Given the description of an element on the screen output the (x, y) to click on. 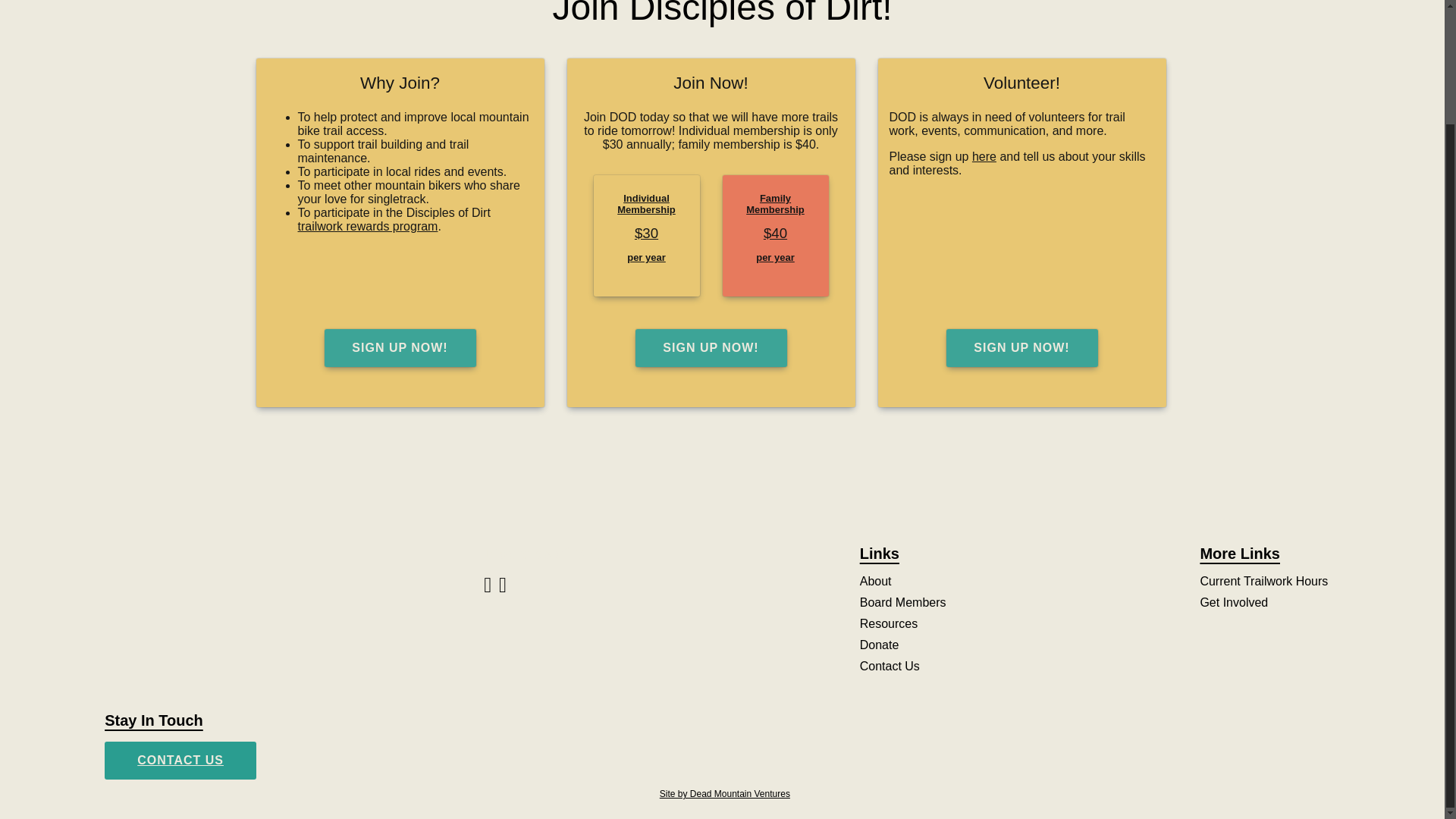
SIGN UP NOW! (399, 347)
trailwork rewards program (367, 226)
here (983, 155)
SIGN UP NOW! (1021, 347)
SIGN UP NOW! (400, 347)
SIGN UP NOW! (710, 347)
SIGN UP NOW! (710, 347)
SIGN UP NOW! (1021, 347)
